Given the description of an element on the screen output the (x, y) to click on. 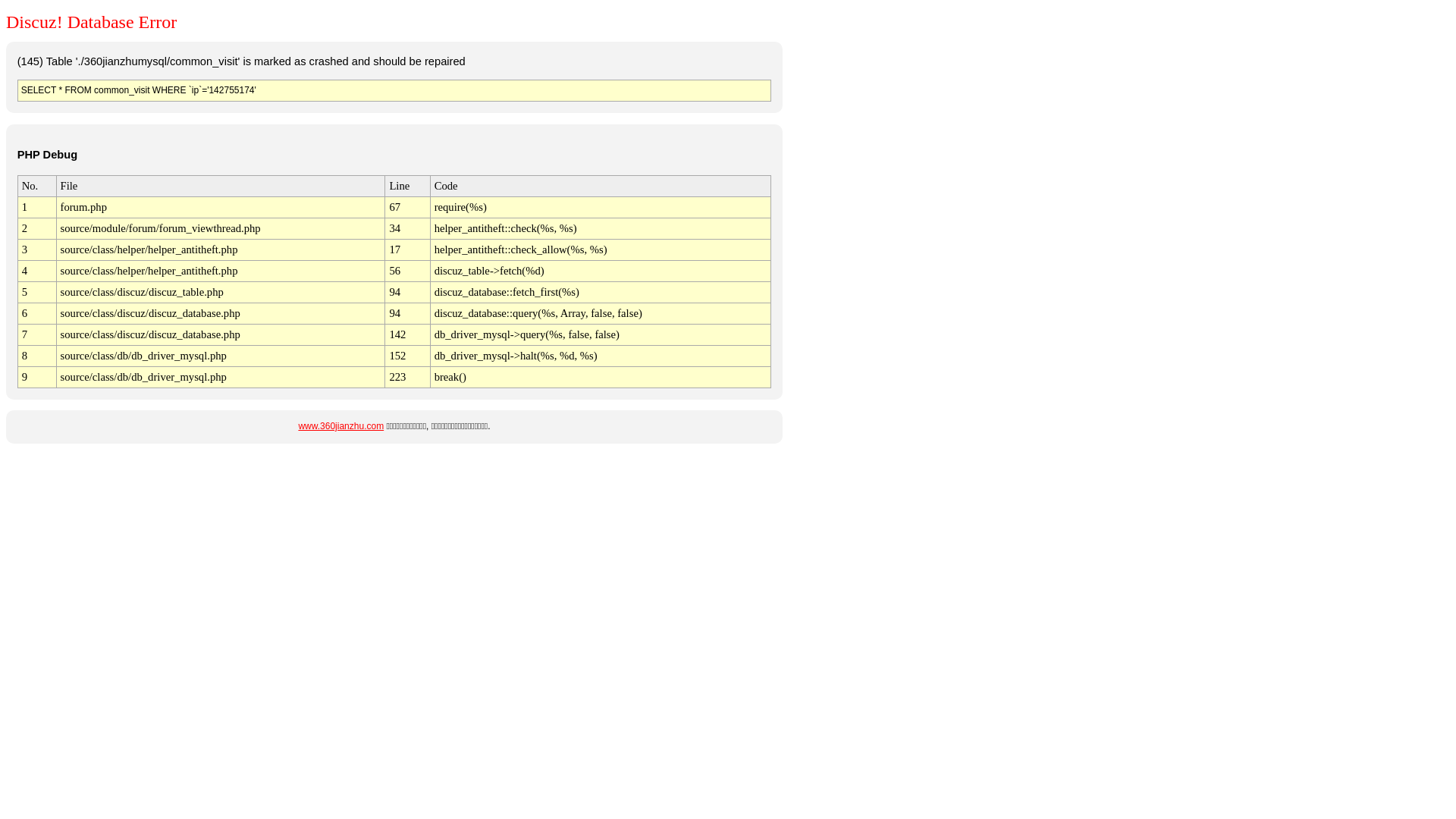
www.360jianzhu.com Element type: text (340, 425)
